Given the description of an element on the screen output the (x, y) to click on. 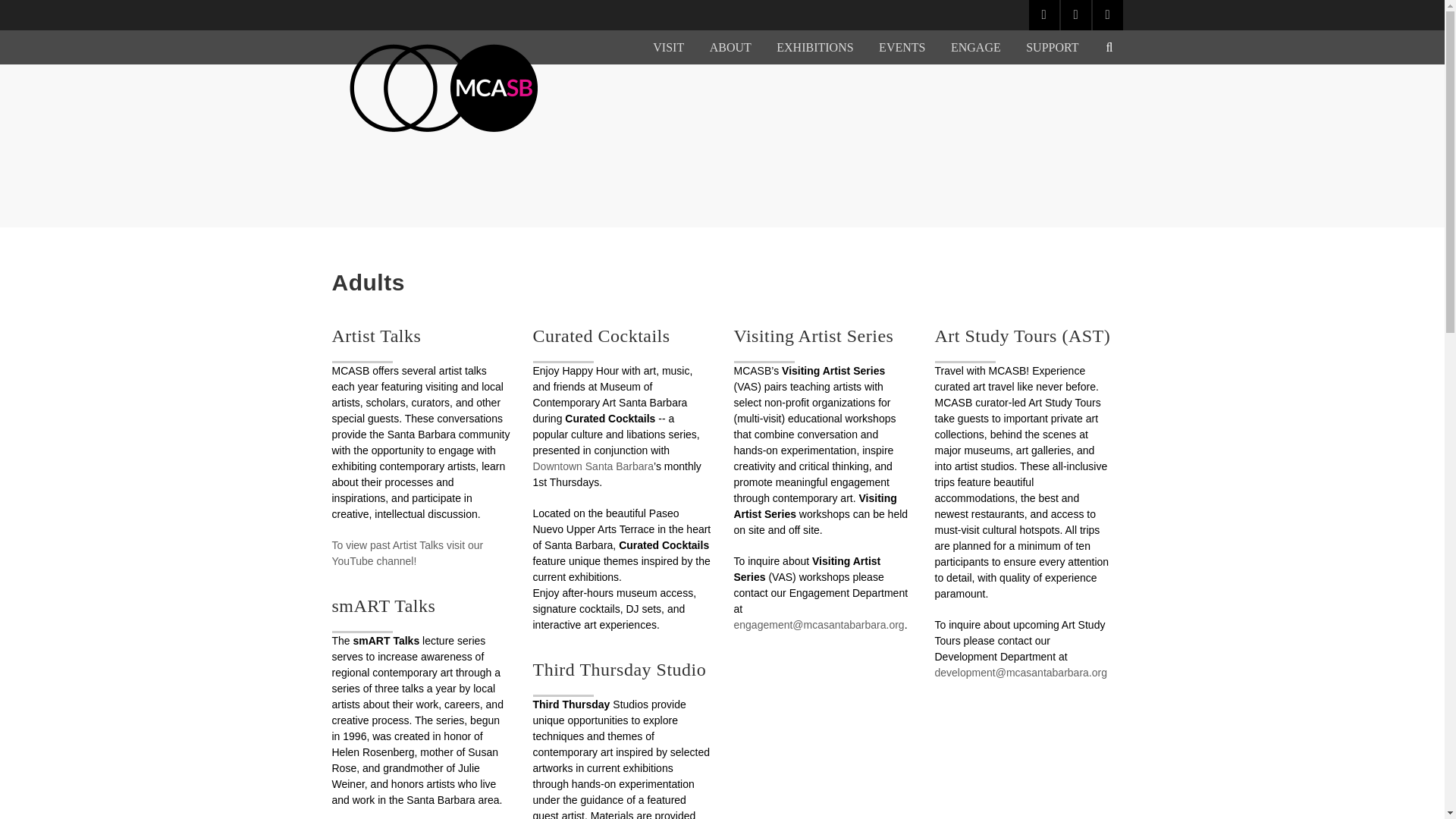
To view past Artist Talks visit our YouTube channel! (407, 552)
ABOUT (730, 47)
EXHIBITIONS (814, 47)
Downtown Santa Barbara (592, 466)
ENGAGE (975, 47)
Museum of Contemporary Art Santa Barbara (443, 87)
VISIT (668, 47)
EVENTS (901, 47)
SUPPORT (1052, 47)
